Given the description of an element on the screen output the (x, y) to click on. 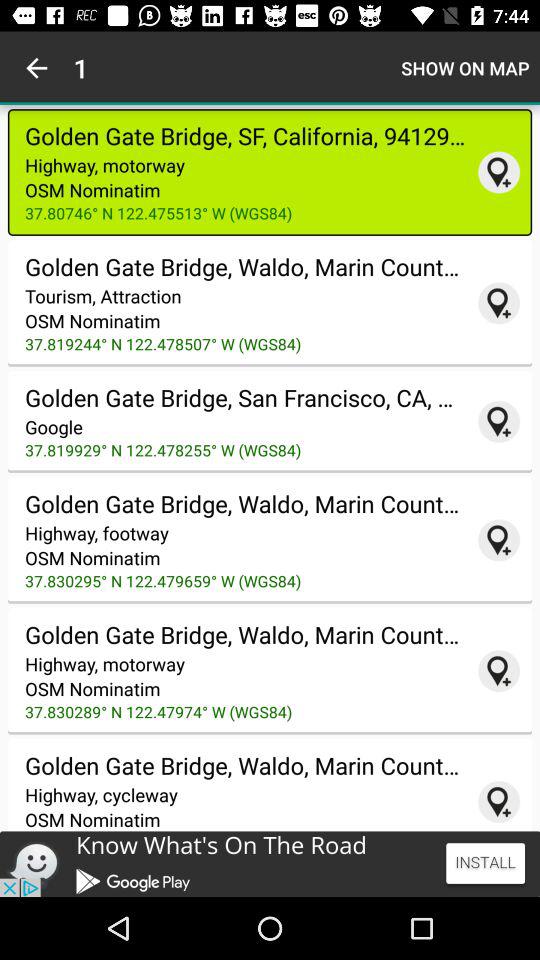
pinpoint location (499, 421)
